Given the description of an element on the screen output the (x, y) to click on. 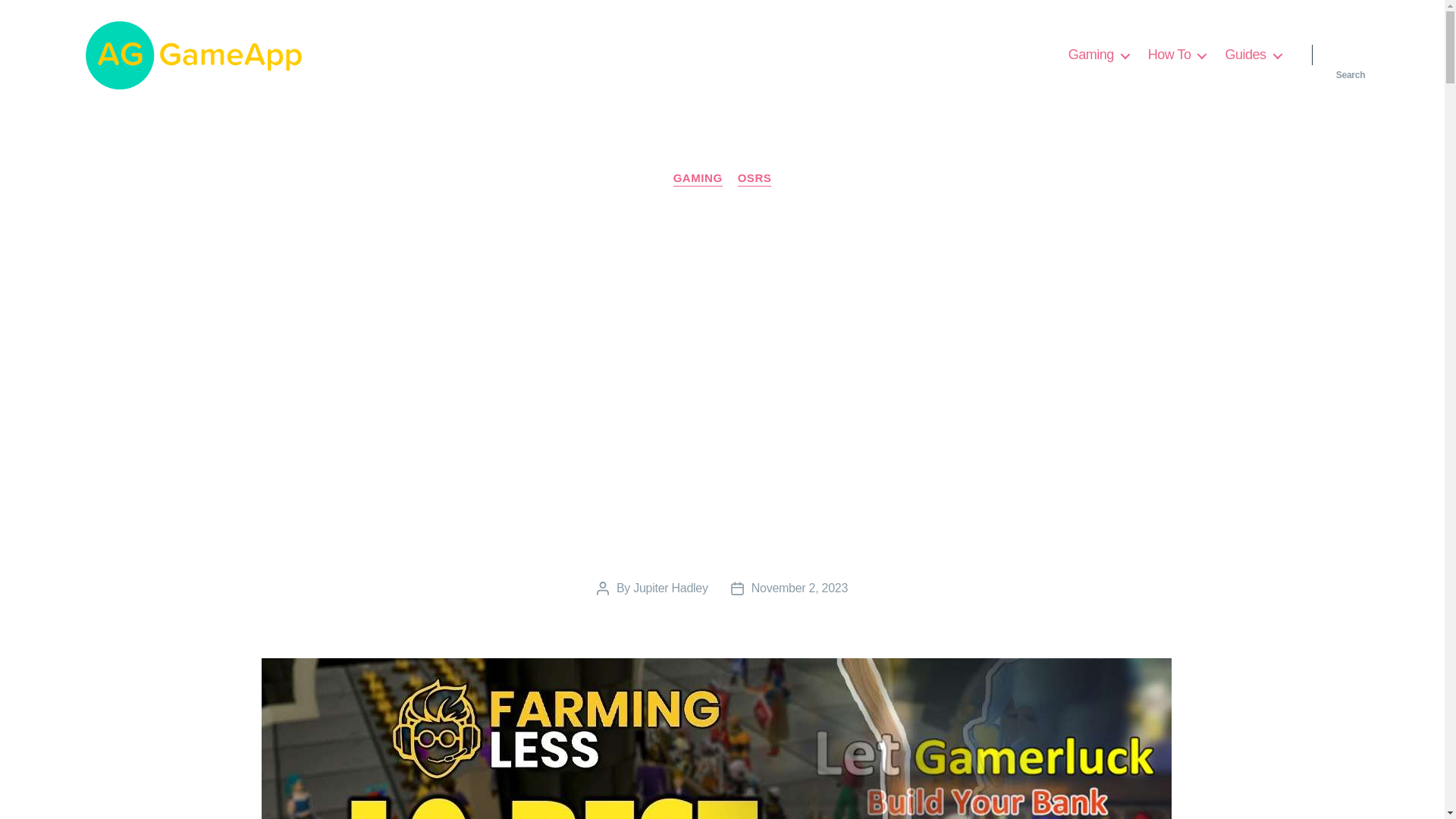
Guides (1252, 54)
How To (1177, 54)
Gaming (1098, 54)
